Given the description of an element on the screen output the (x, y) to click on. 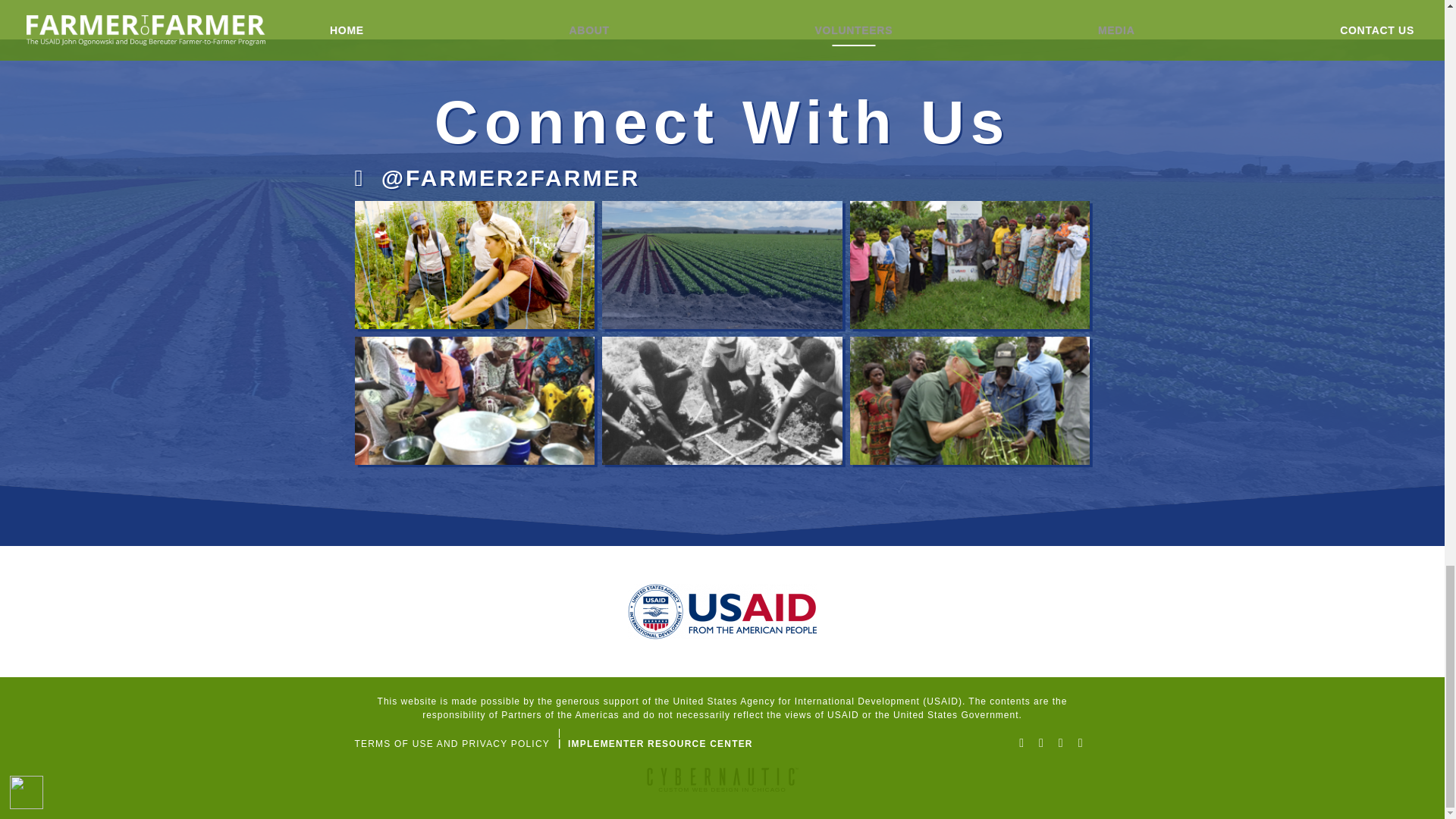
IMPLEMENTER RESOURCE CENTER (659, 743)
TERMS OF USE AND PRIVACY POLICY (452, 743)
CUSTOM WEB DESIGN IN CHICAGO (722, 784)
